Given the description of an element on the screen output the (x, y) to click on. 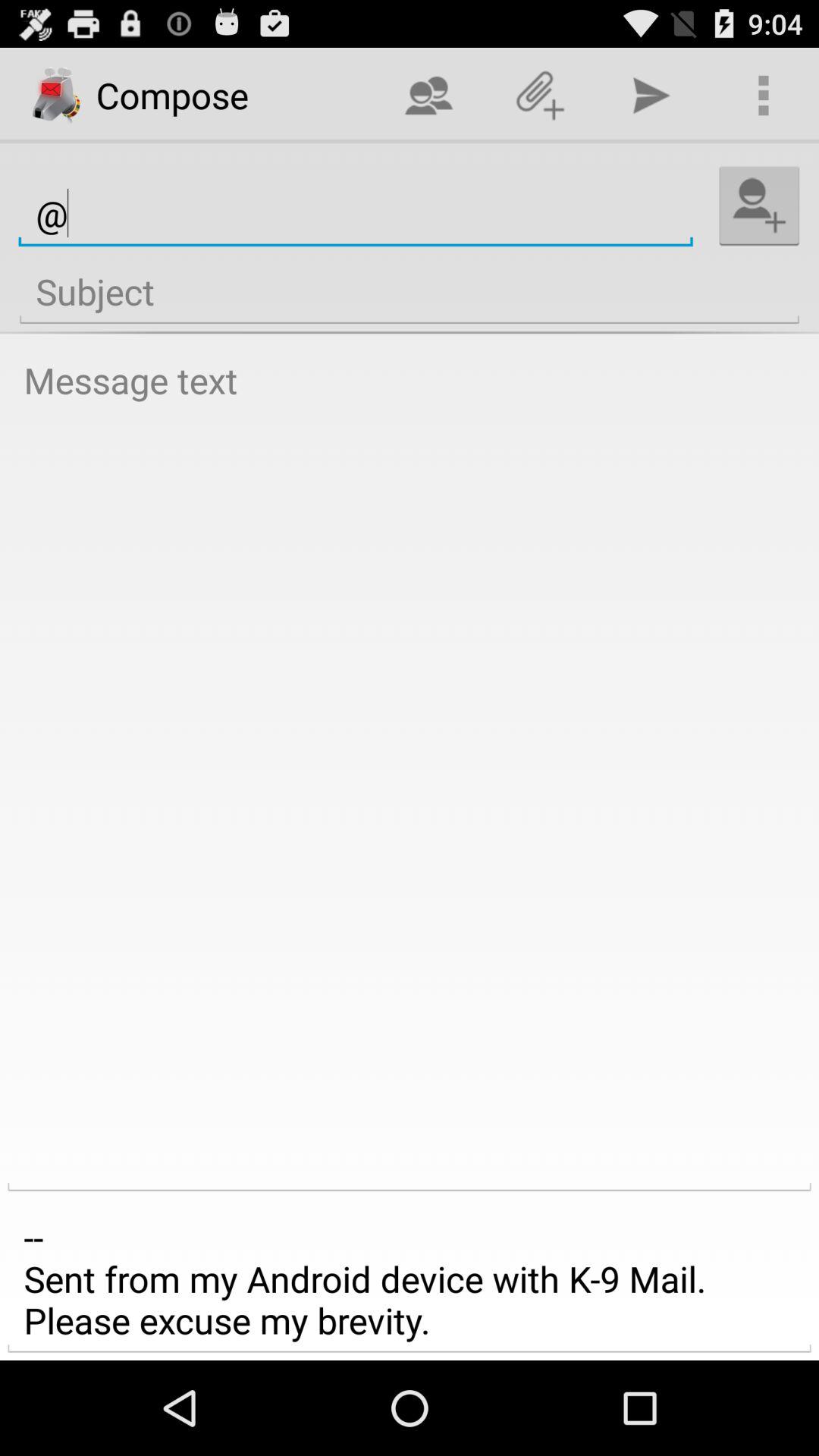
flip until the sent from my (409, 1279)
